Given the description of an element on the screen output the (x, y) to click on. 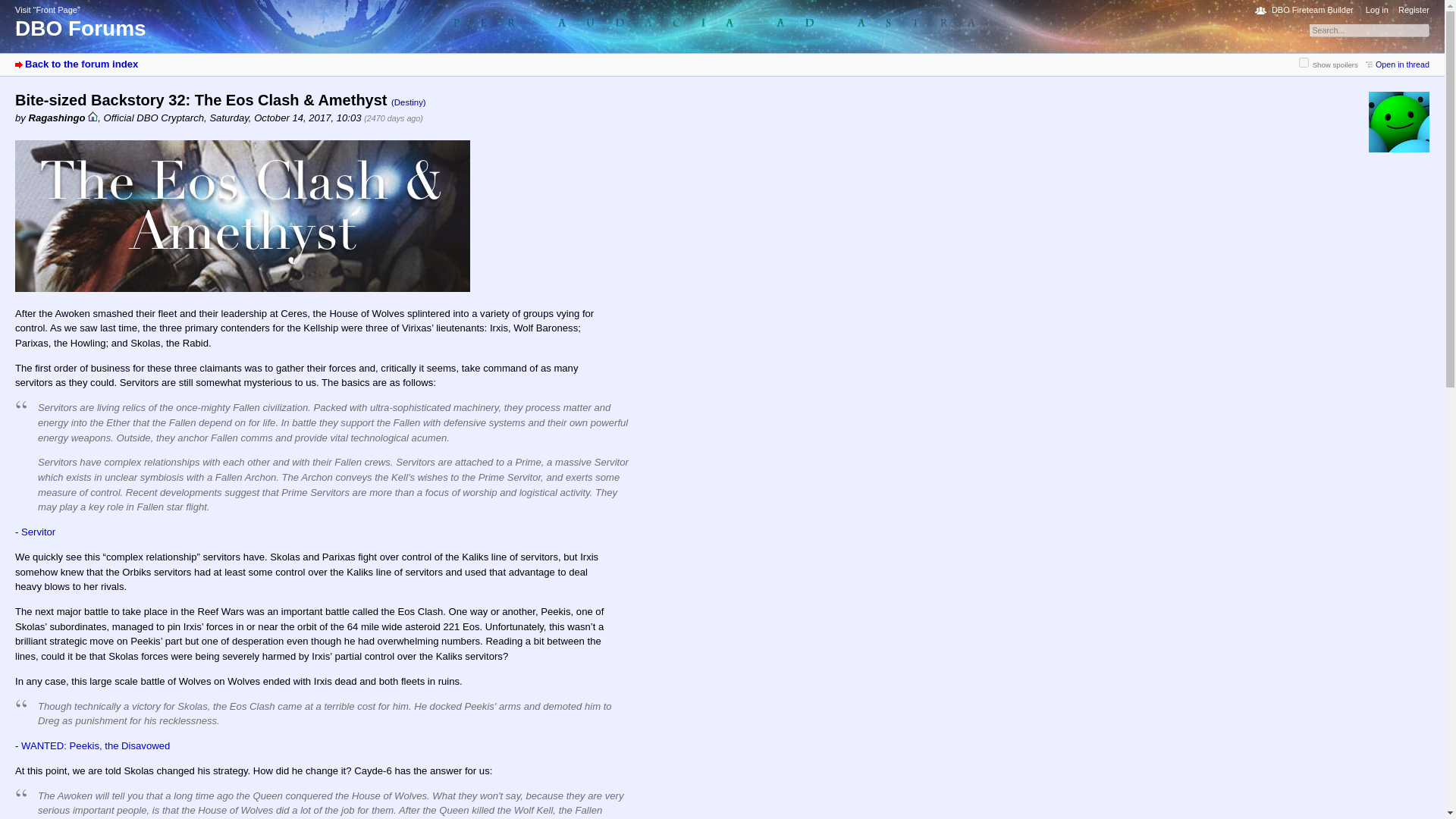
on (1303, 62)
Register as new user (1413, 9)
WANTED: Peekis, the Disavowed (95, 745)
Search messages (1367, 29)
Open in thread (1397, 63)
Register (1413, 9)
Log in (1377, 9)
Back to the forum index (76, 63)
Servitor (38, 531)
Forum index page (76, 63)
Log in (1377, 9)
DBO Forums (80, 28)
Homepage (92, 116)
Search... (1368, 29)
DBO Fireteam Builder (1304, 9)
